Given the description of an element on the screen output the (x, y) to click on. 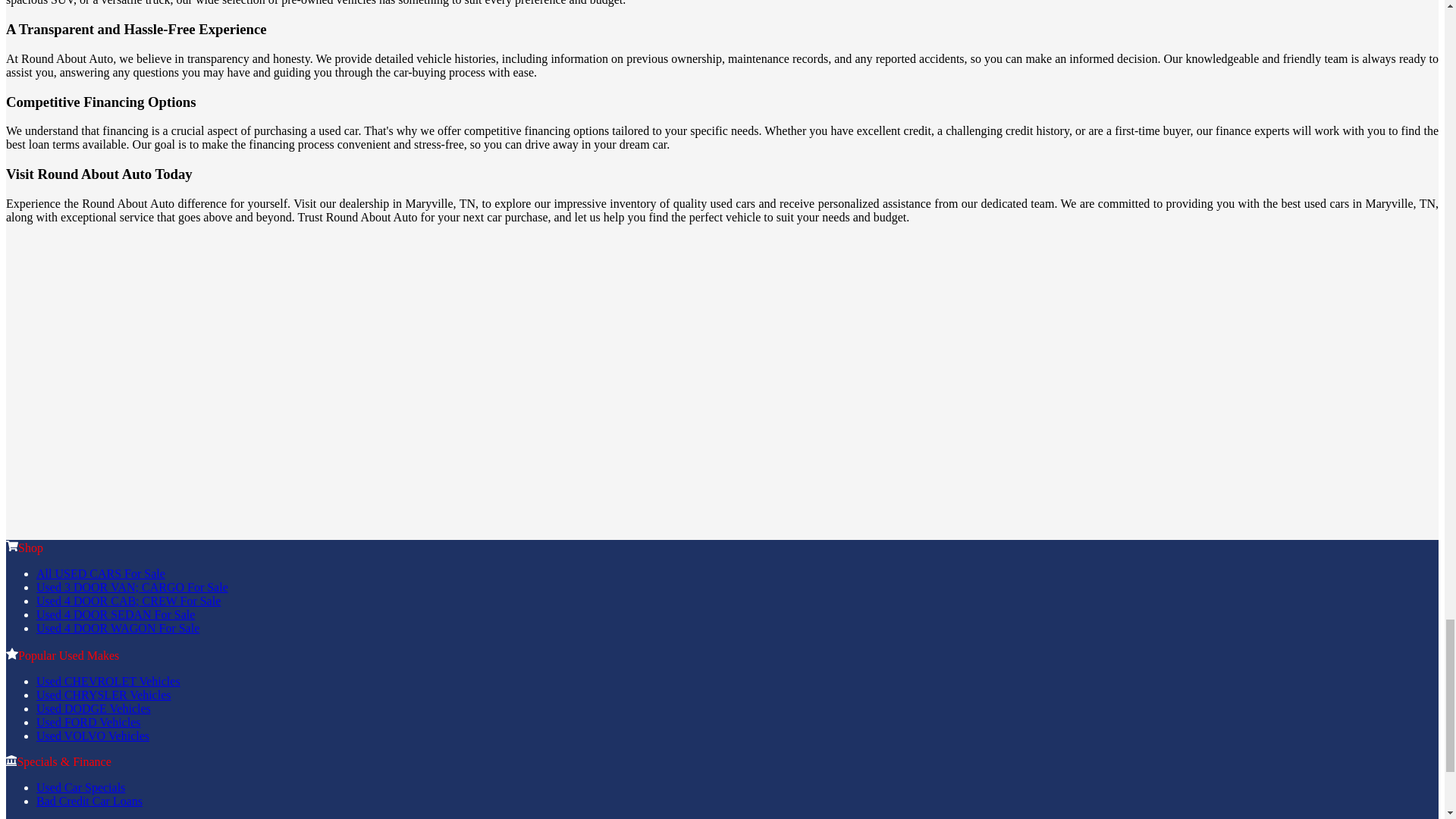
Used Car Specials (80, 787)
Used CHRYSLER Vehicles (103, 694)
Used 3 DOOR VAN; CARGO For Sale (132, 586)
Used CHEVROLET Vehicles (108, 680)
Used FORD Vehicles (87, 721)
Used 4 DOOR WAGON For Sale (117, 627)
Used DODGE Vehicles (93, 707)
Used 4 DOOR SEDAN For Sale (115, 614)
Used 4 DOOR CAB; CREW For Sale (128, 600)
Used VOLVO Vehicles (92, 735)
